Given the description of an element on the screen output the (x, y) to click on. 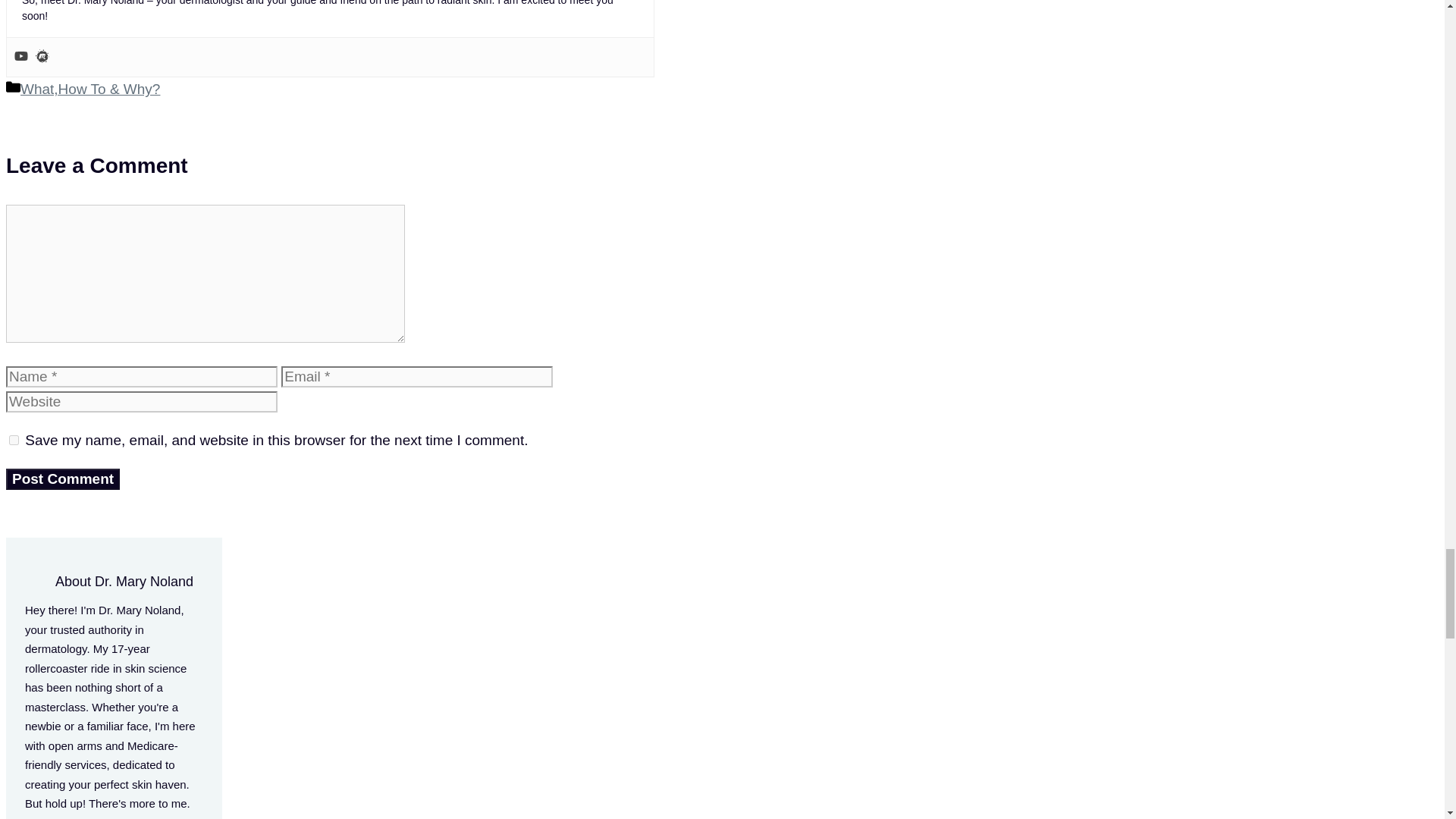
Youtube (20, 57)
Meetup (41, 57)
yes (13, 439)
Post Comment (62, 478)
Post Comment (62, 478)
